Given the description of an element on the screen output the (x, y) to click on. 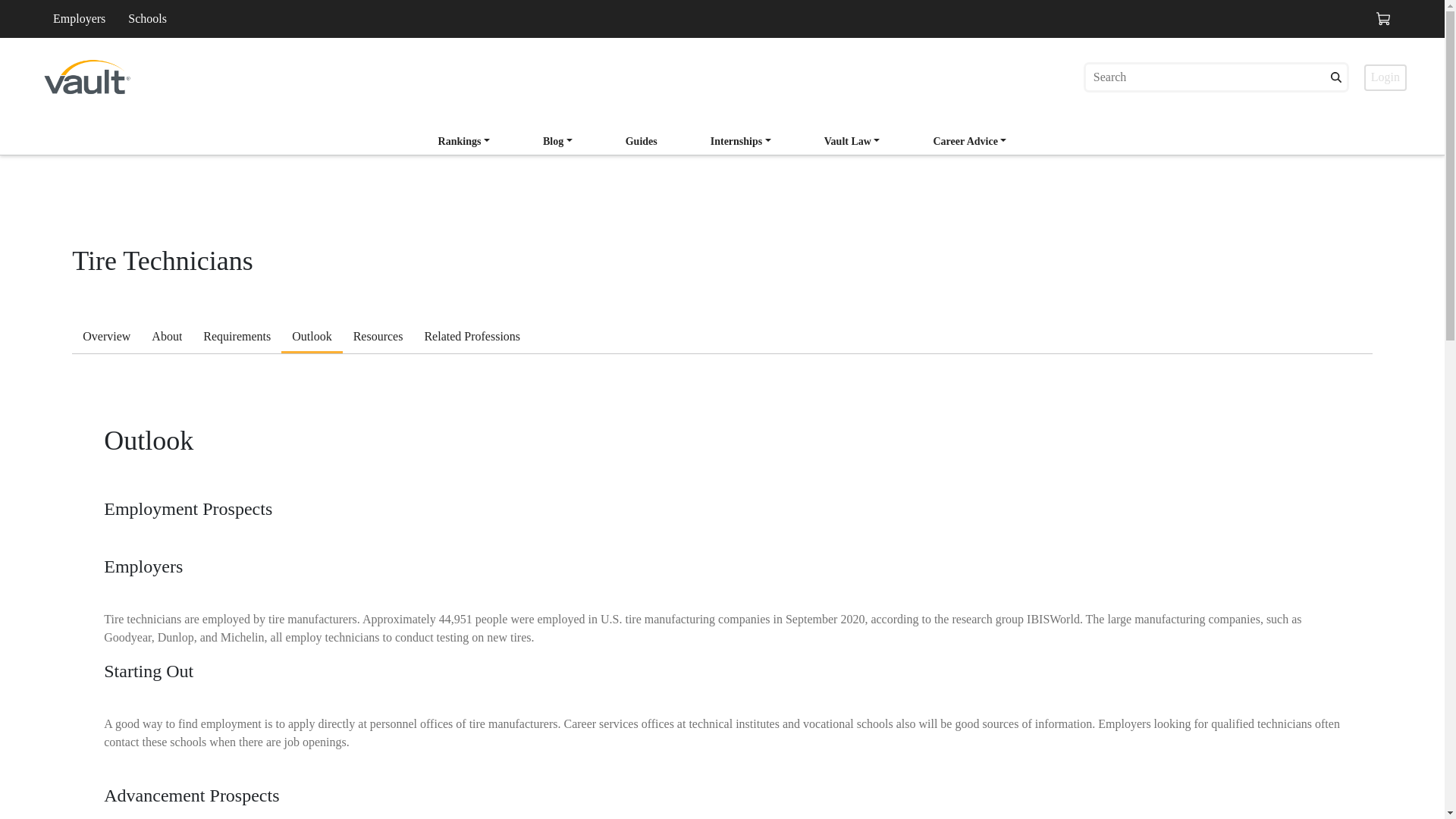
Related Professions (472, 337)
Blog (557, 142)
Skip to main content (132, 30)
Skip to main content (132, 44)
Internships (740, 142)
Guides (641, 142)
Guides (641, 141)
Career Advice (968, 142)
Vault Law (852, 141)
